Given the description of an element on the screen output the (x, y) to click on. 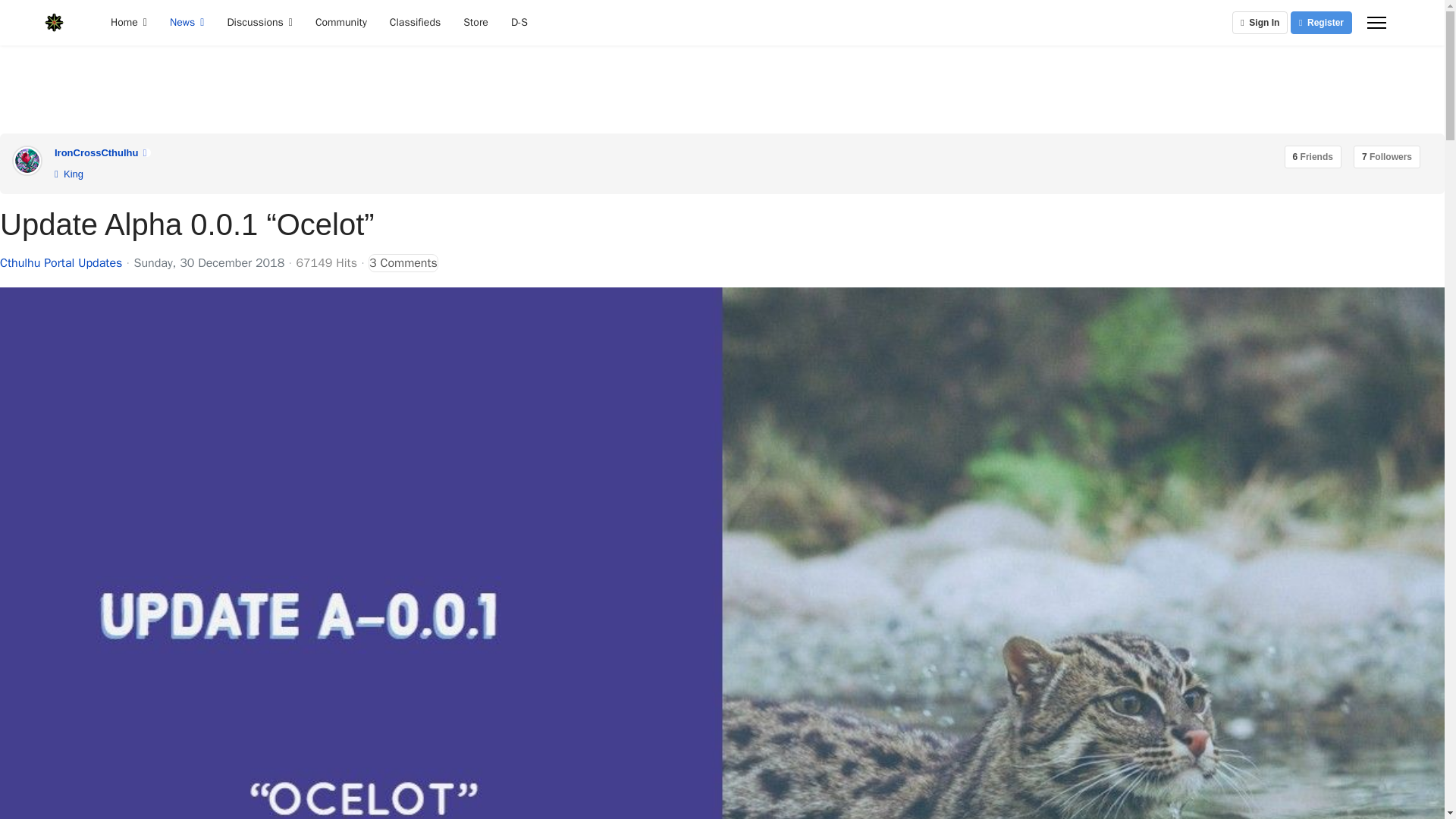
News (186, 22)
3 Comments (403, 262)
7 Followers (1387, 156)
IronCrossCthulhu (96, 152)
Classifieds (414, 22)
IronCrossCthulhu (96, 152)
  King (68, 173)
Cthulhu Portal Updates (61, 263)
6 Friends (1312, 156)
Discussions (259, 22)
